Given the description of an element on the screen output the (x, y) to click on. 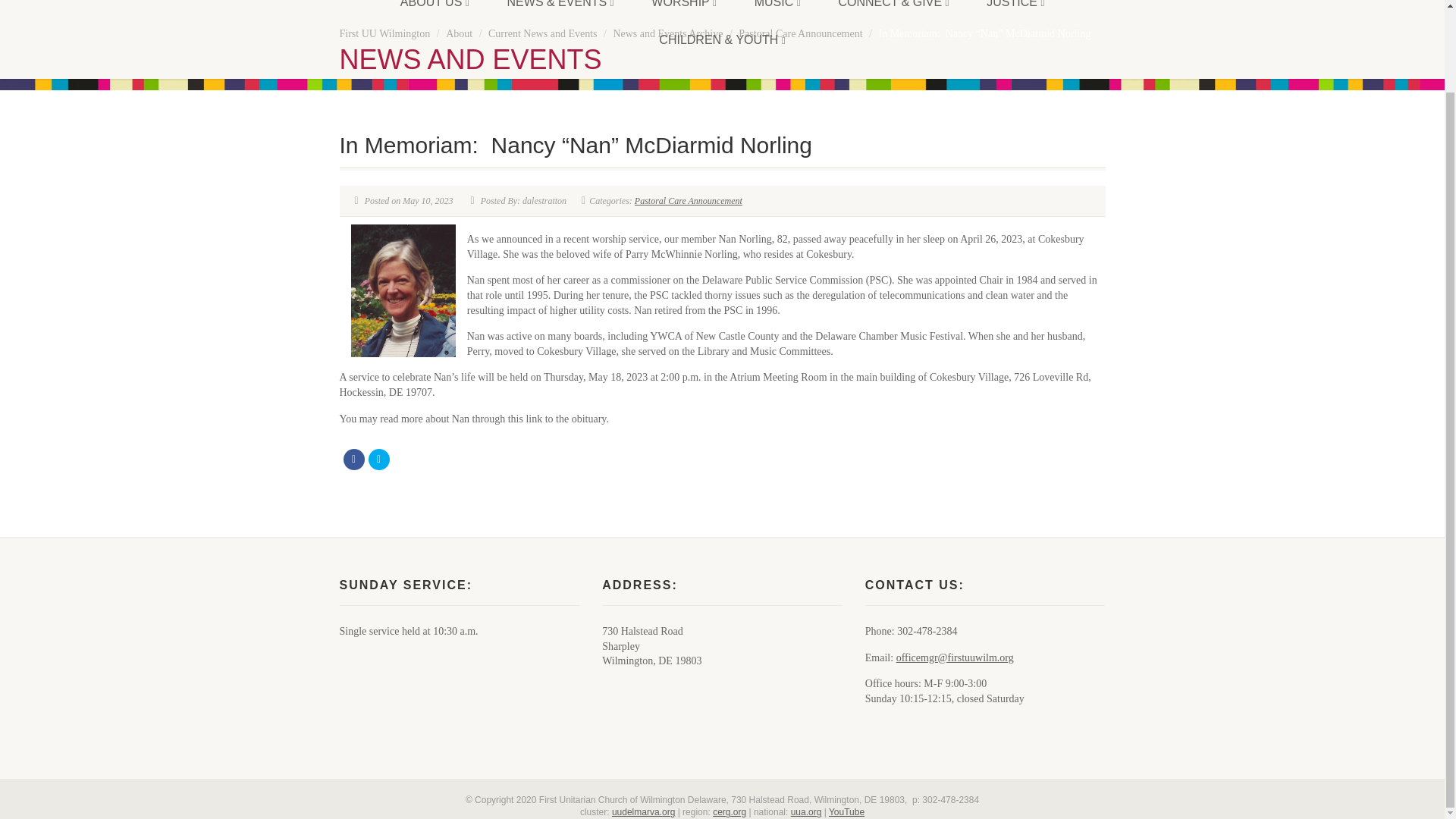
Go to Current News and Events. (541, 33)
Go to First UU Wilmington. (384, 33)
Tweet (379, 459)
Go to the Pastoral Care Announcement Category archives. (799, 33)
Go to About. (458, 33)
ABOUT US (434, 10)
Go to News and Events Archive. (667, 33)
WORSHIP (683, 10)
Share on Facebook (353, 459)
